Given the description of an element on the screen output the (x, y) to click on. 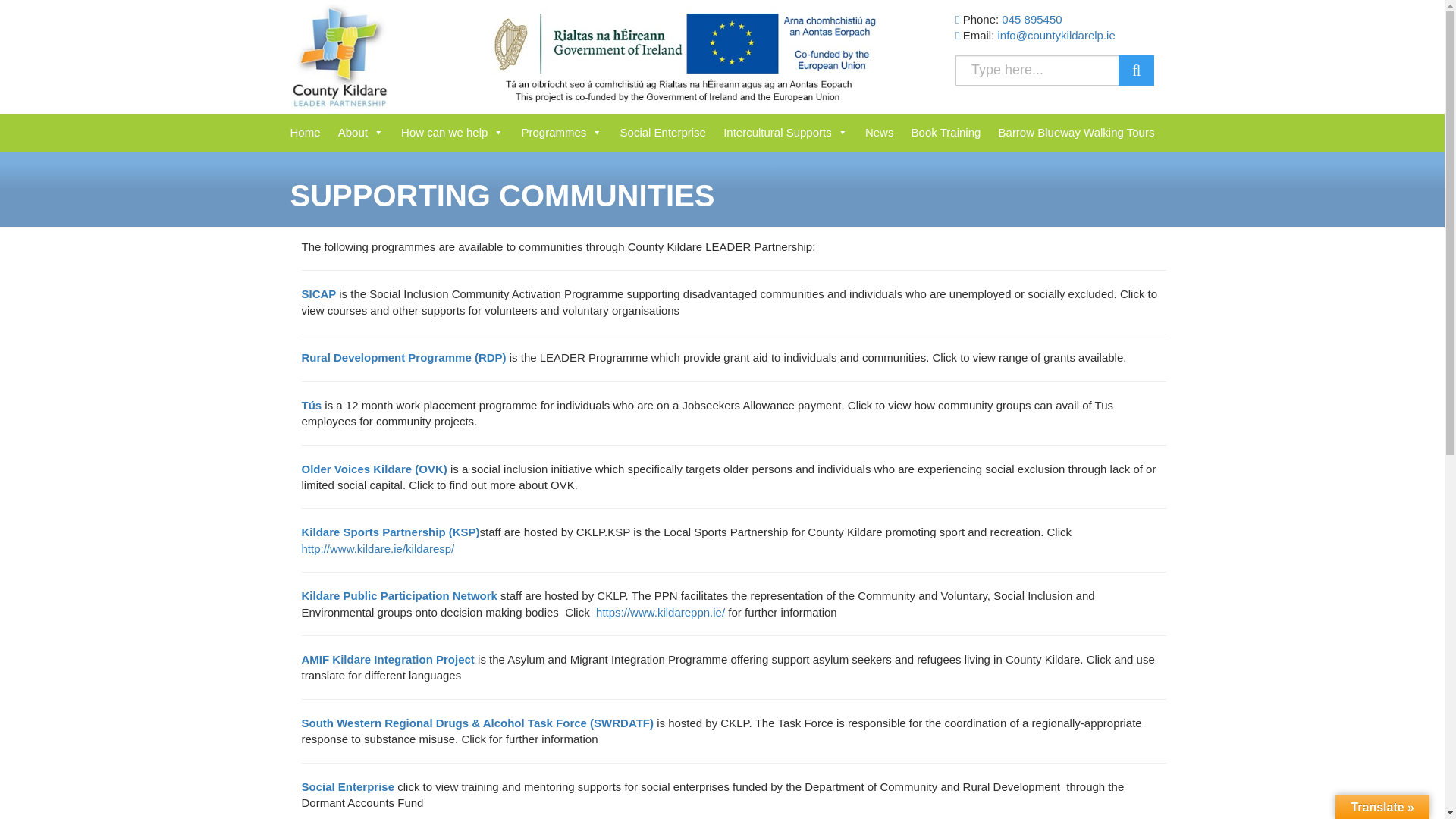
045 895450 (1031, 19)
County Kildare LEADER Partnership (338, 56)
Home (304, 132)
How can we help (452, 132)
About (360, 132)
Programmes (561, 132)
